Given the description of an element on the screen output the (x, y) to click on. 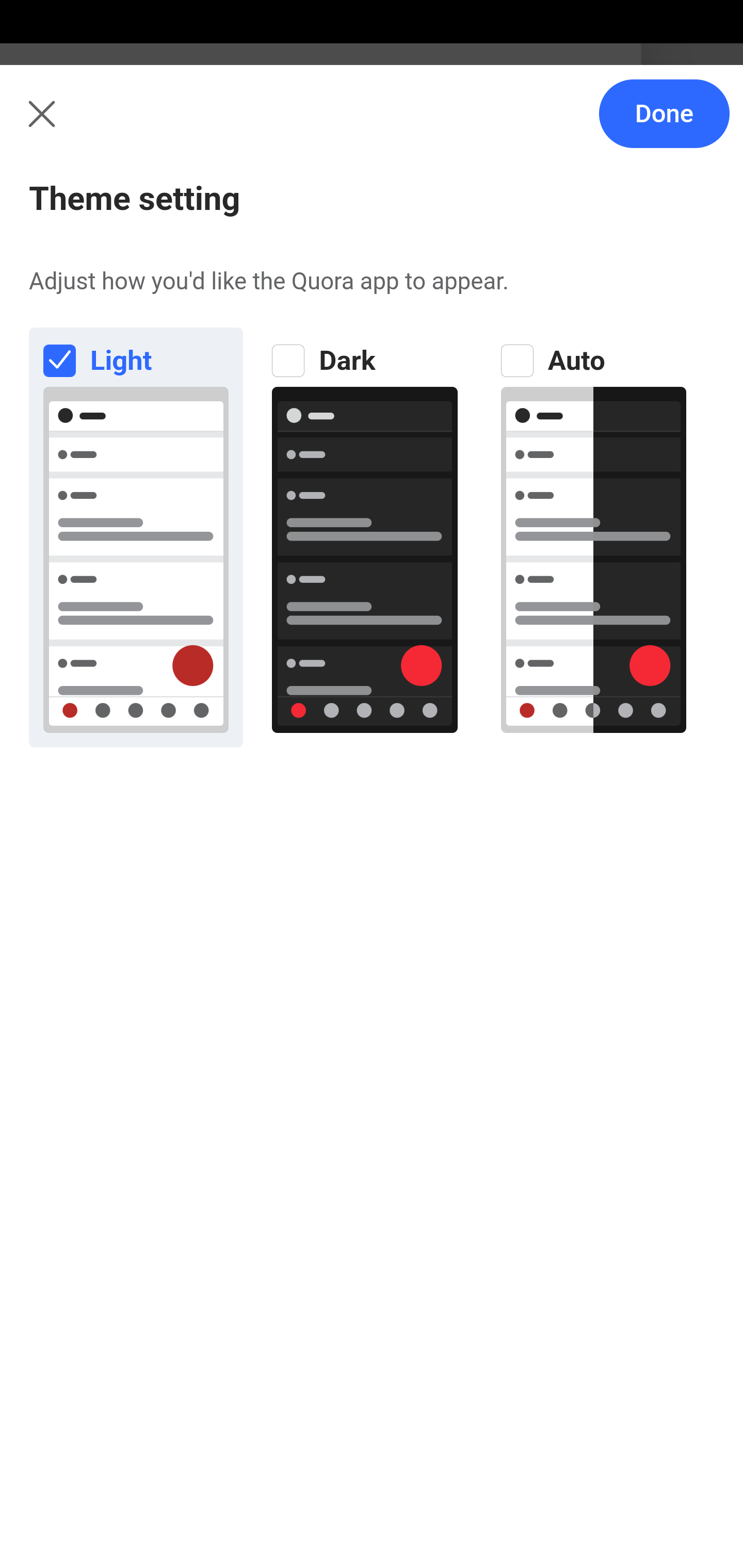
Me Notifications Search (371, 125)
Me (64, 125)
All Notifications Read (160, 213)
